Given the description of an element on the screen output the (x, y) to click on. 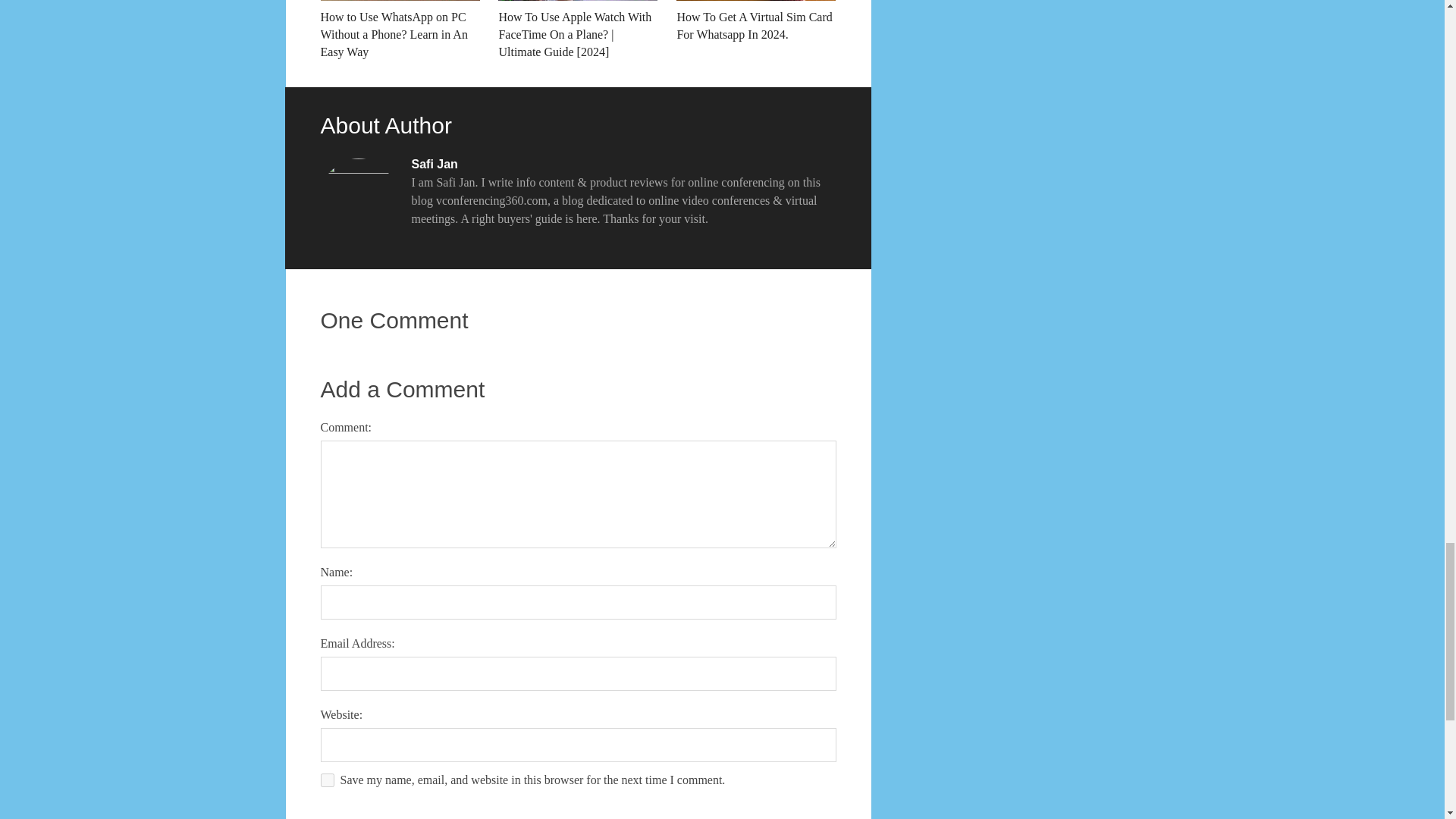
How To Get A Virtual Sim Card For Whatsapp In 2024. (756, 21)
yes (326, 780)
How To Get A Virtual Sim Card For Whatsapp In 2024. (756, 21)
